Given the description of an element on the screen output the (x, y) to click on. 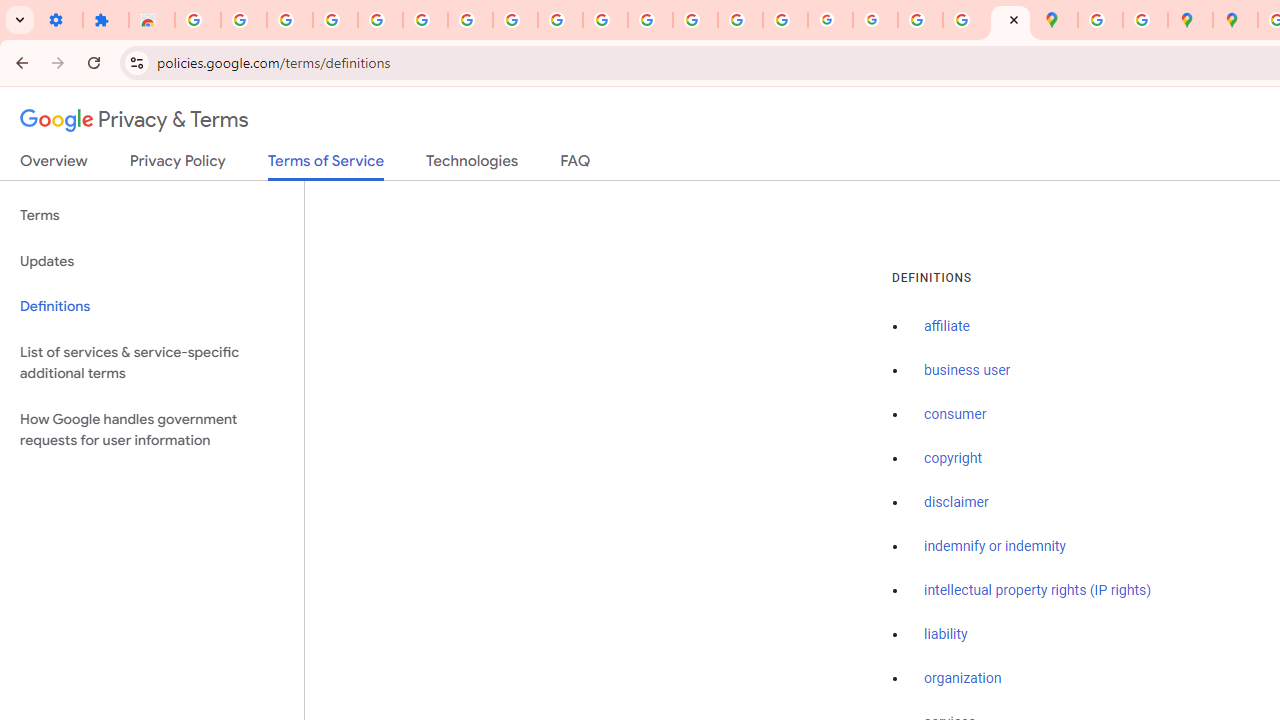
Sign in - Google Accounts (198, 20)
Delete photos & videos - Computer - Google Photos Help (290, 20)
Google Maps (1055, 20)
Safety in Our Products - Google Safety Center (1145, 20)
